Given the description of an element on the screen output the (x, y) to click on. 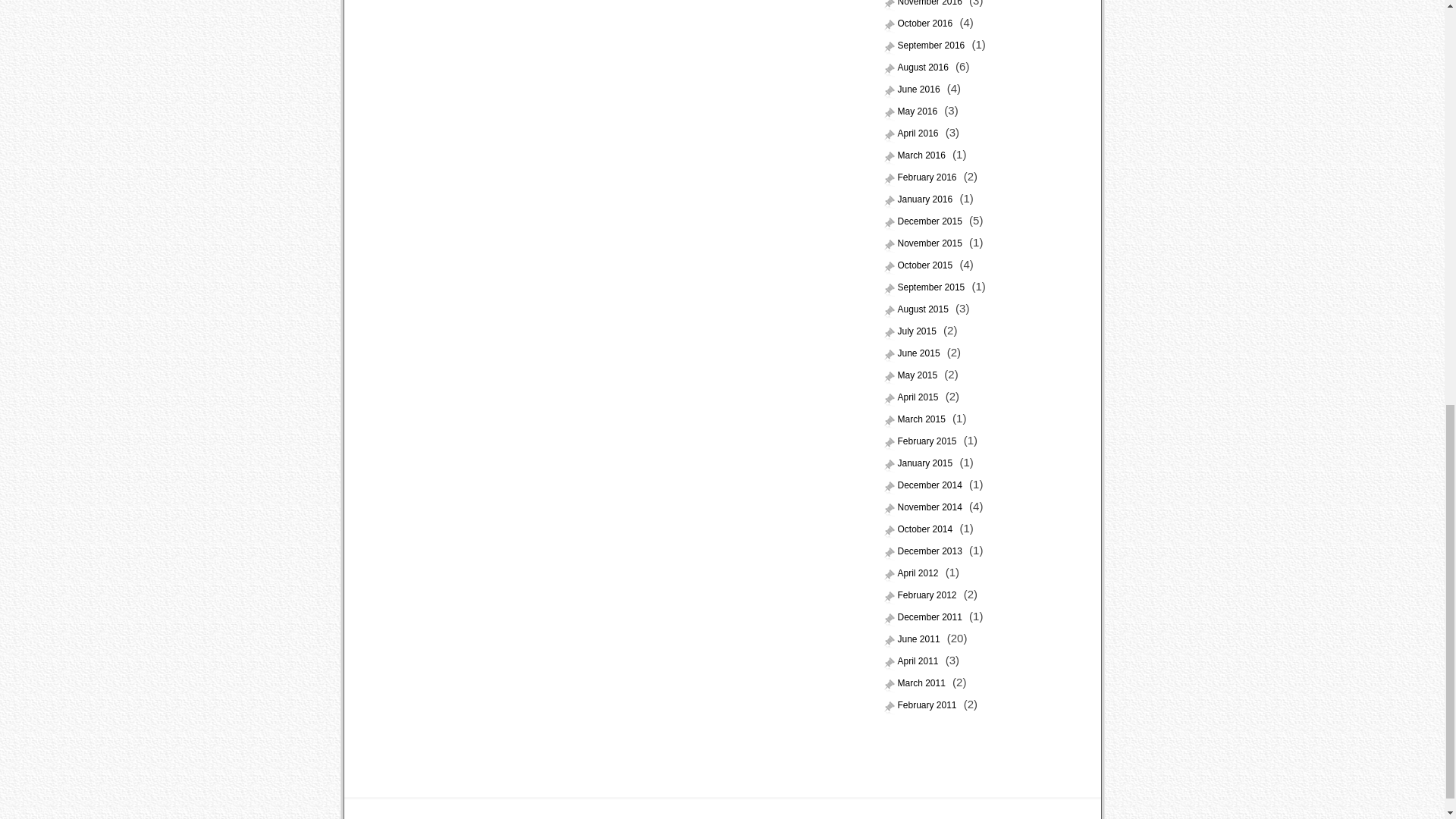
September 2016 (926, 45)
October 2016 (919, 24)
November 2016 (924, 5)
May 2016 (912, 112)
June 2016 (913, 90)
August 2016 (917, 67)
